Given the description of an element on the screen output the (x, y) to click on. 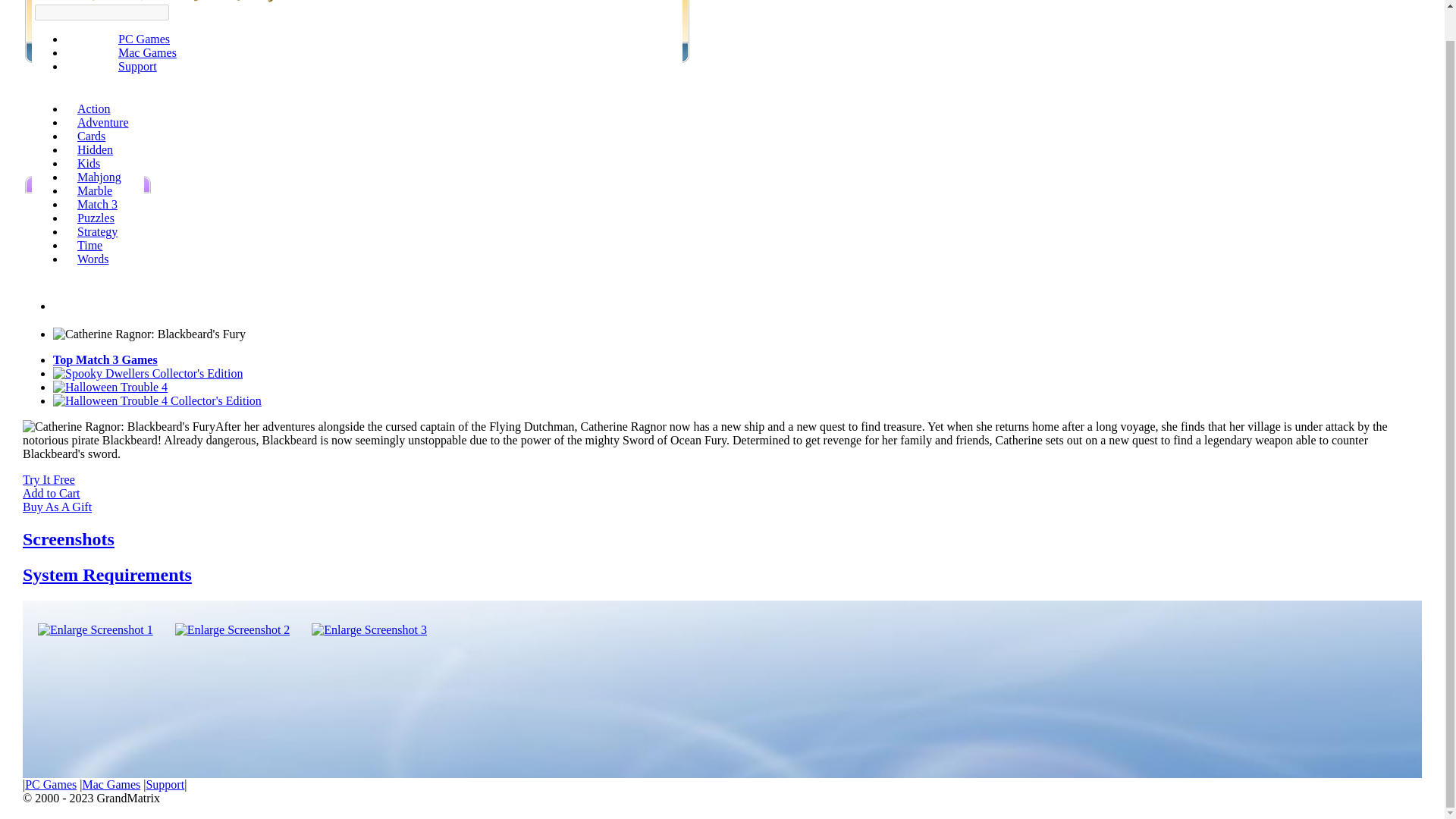
PC Games (143, 38)
Action (93, 108)
Mac Games (110, 784)
Spooky Dwellers Collector's Edition (147, 373)
Halloween Trouble 4 Collector's Edition (157, 400)
Support (137, 65)
Mac Games (146, 51)
Support (164, 784)
Add to Cart (51, 492)
PC Games (50, 784)
Strategy (97, 231)
Puzzles (95, 217)
Kids (88, 163)
Match 3 (97, 204)
Screenshots (69, 538)
